Given the description of an element on the screen output the (x, y) to click on. 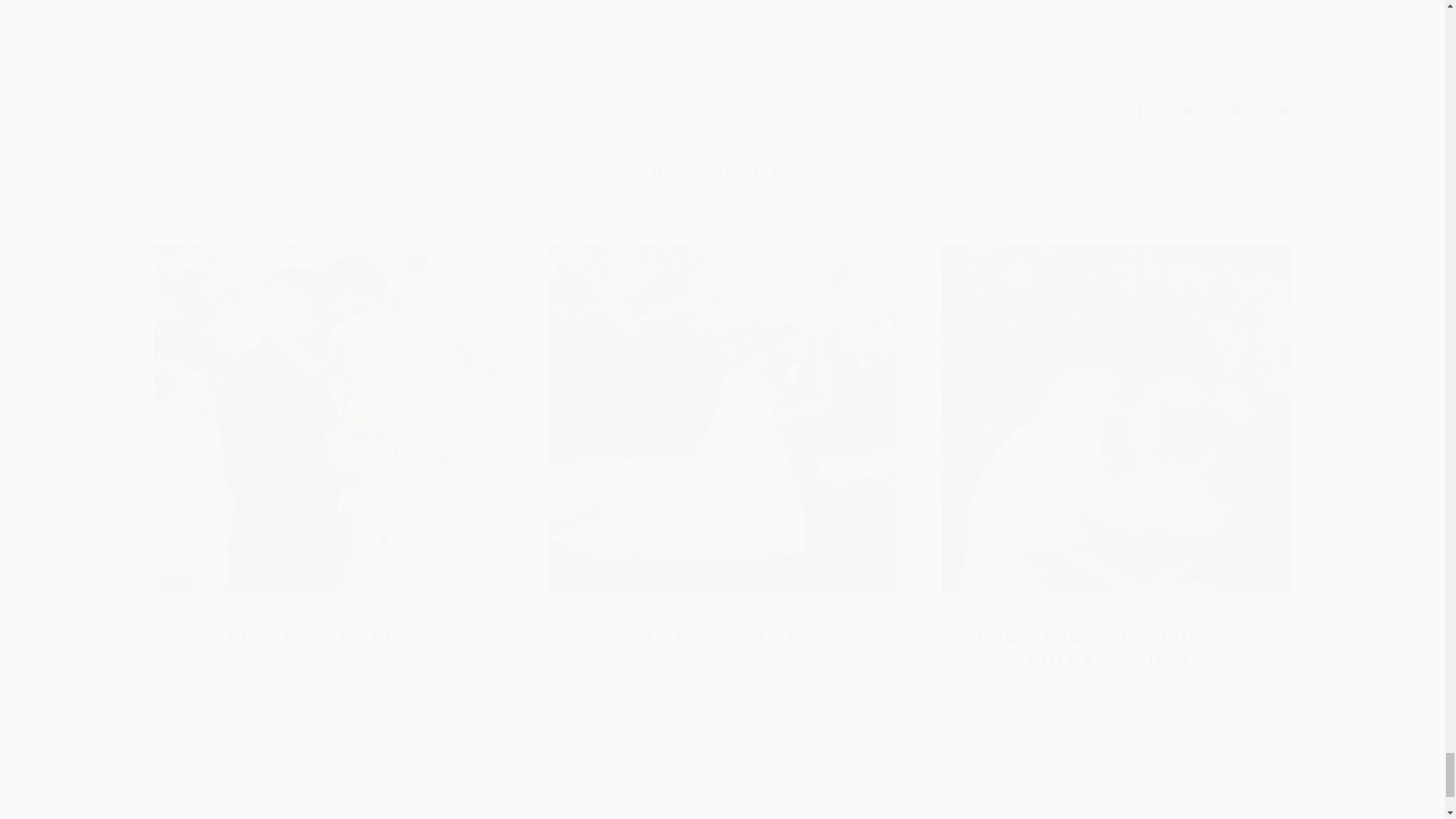
Wedding (368, 675)
wedding photography (501, 107)
Wedding (1196, 698)
Wedding (762, 675)
